Given the description of an element on the screen output the (x, y) to click on. 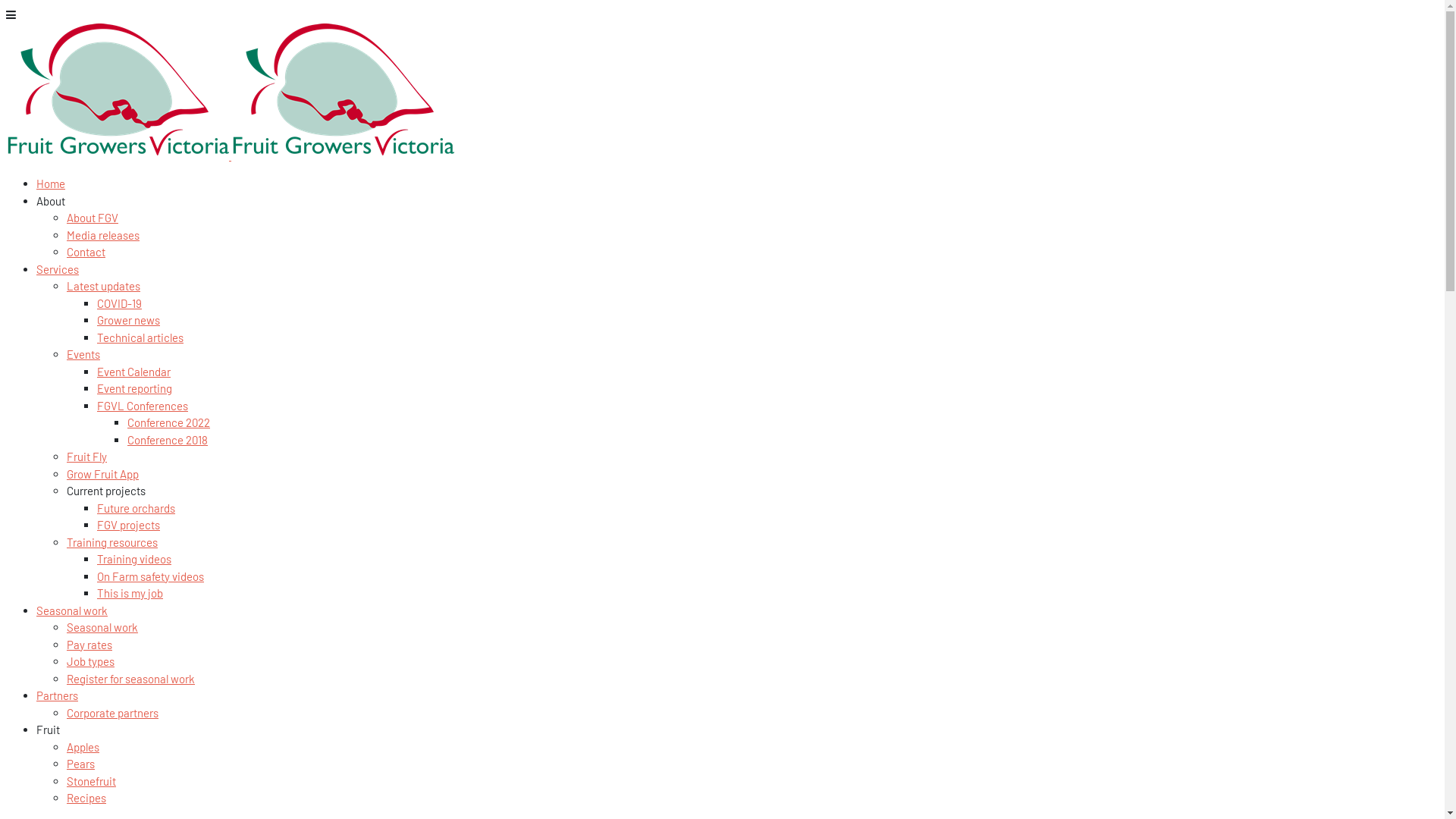
Stonefruit Element type: text (91, 780)
Grower news Element type: text (128, 319)
Seasonal work Element type: text (102, 626)
FGVL Conferences Element type: text (142, 405)
Latest updates Element type: text (103, 285)
Services Element type: text (57, 269)
Pay rates Element type: text (89, 643)
Job types Element type: text (90, 661)
Corporate partners Element type: text (112, 711)
Event reporting Element type: text (134, 388)
COVID-19 Element type: text (119, 302)
Pears Element type: text (80, 763)
Event Calendar Element type: text (133, 370)
Home Element type: text (50, 183)
FGV projects Element type: text (128, 524)
Events Element type: text (83, 353)
Contact Element type: text (85, 251)
This is my job Element type: text (130, 592)
On Farm safety videos Element type: text (150, 575)
Training resources Element type: text (111, 542)
Training videos Element type: text (134, 558)
Grow Fruit App Element type: text (102, 473)
Conference 2018 Element type: text (167, 438)
Fruit Growers Victoria Element type: hover (230, 155)
Media releases Element type: text (102, 234)
Apples Element type: text (82, 746)
Fruit Fly Element type: text (86, 456)
Technical articles Element type: text (140, 337)
Partners Element type: text (57, 695)
Recipes Element type: text (86, 797)
About FGV Element type: text (92, 217)
Register for seasonal work Element type: text (130, 678)
Seasonal work Element type: text (71, 610)
Future orchards Element type: text (136, 507)
Conference 2022 Element type: text (168, 422)
